Given the description of an element on the screen output the (x, y) to click on. 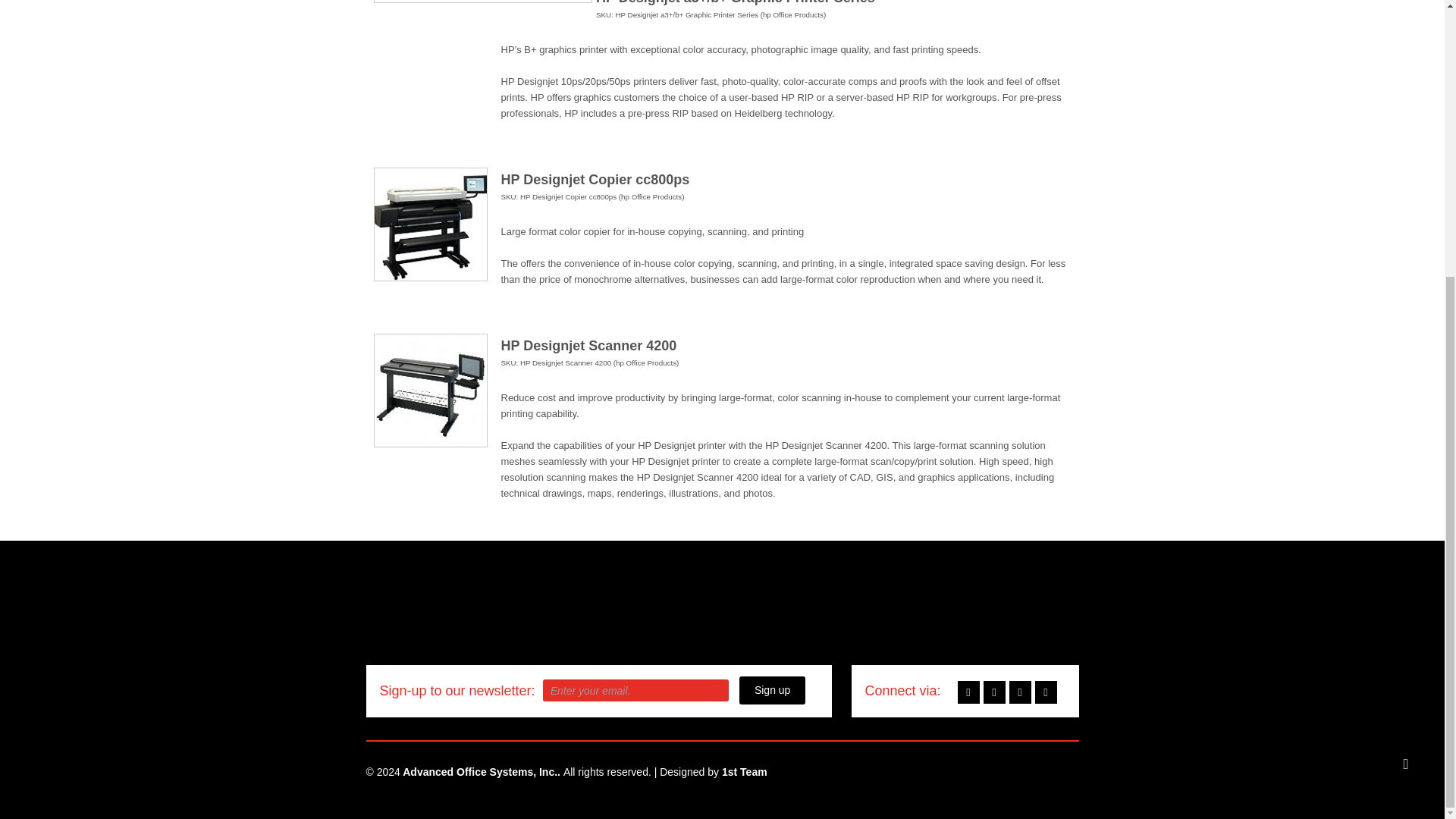
Sign up (772, 690)
HP Designjet Copier cc800ps (429, 224)
HP Designjet Scanner 4200 (429, 390)
HP Designjet Scanner 4200 (588, 345)
HP Designjet Copier cc800ps (594, 179)
